Given the description of an element on the screen output the (x, y) to click on. 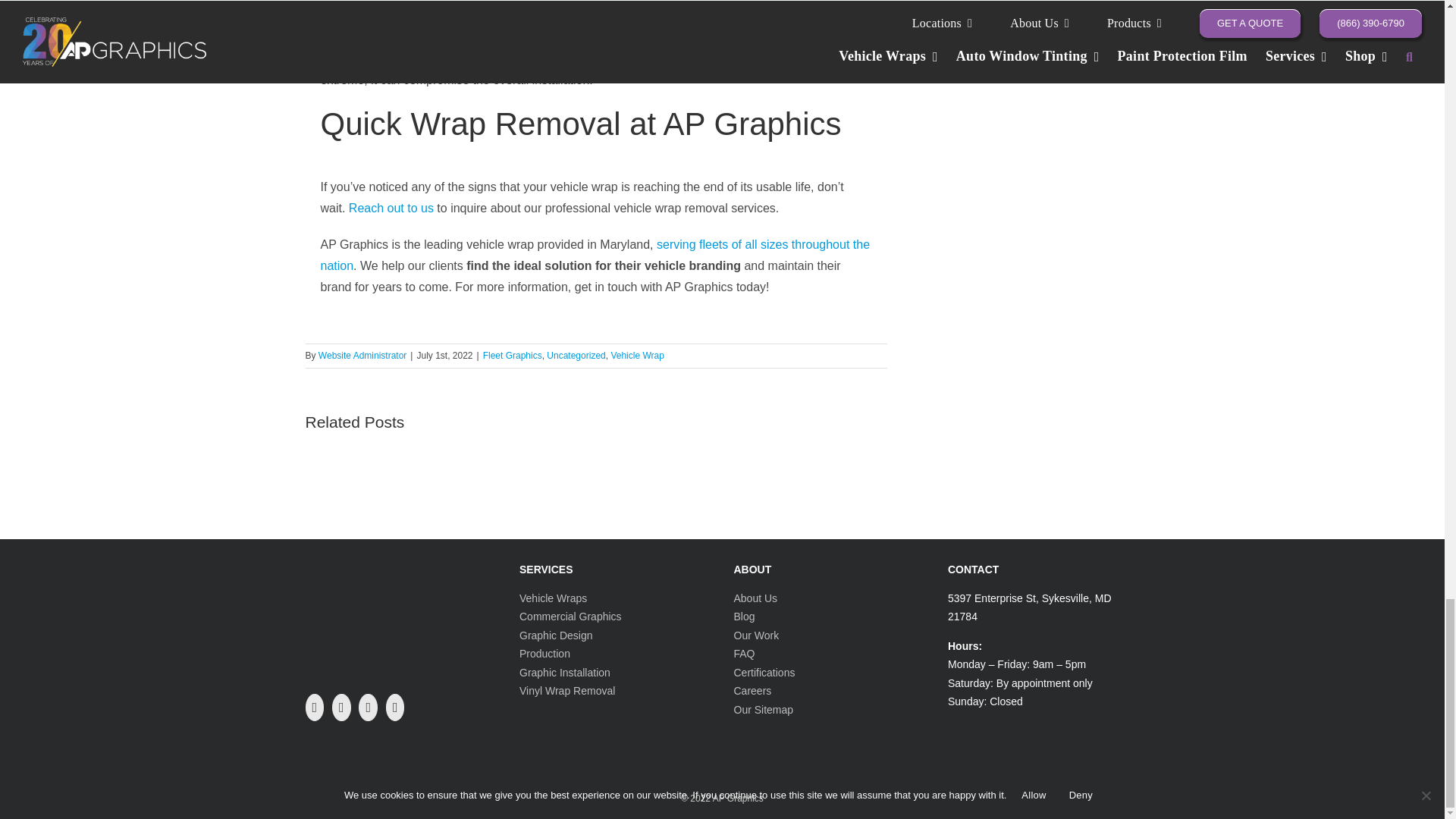
Posts by Website Administrator (362, 355)
